Given the description of an element on the screen output the (x, y) to click on. 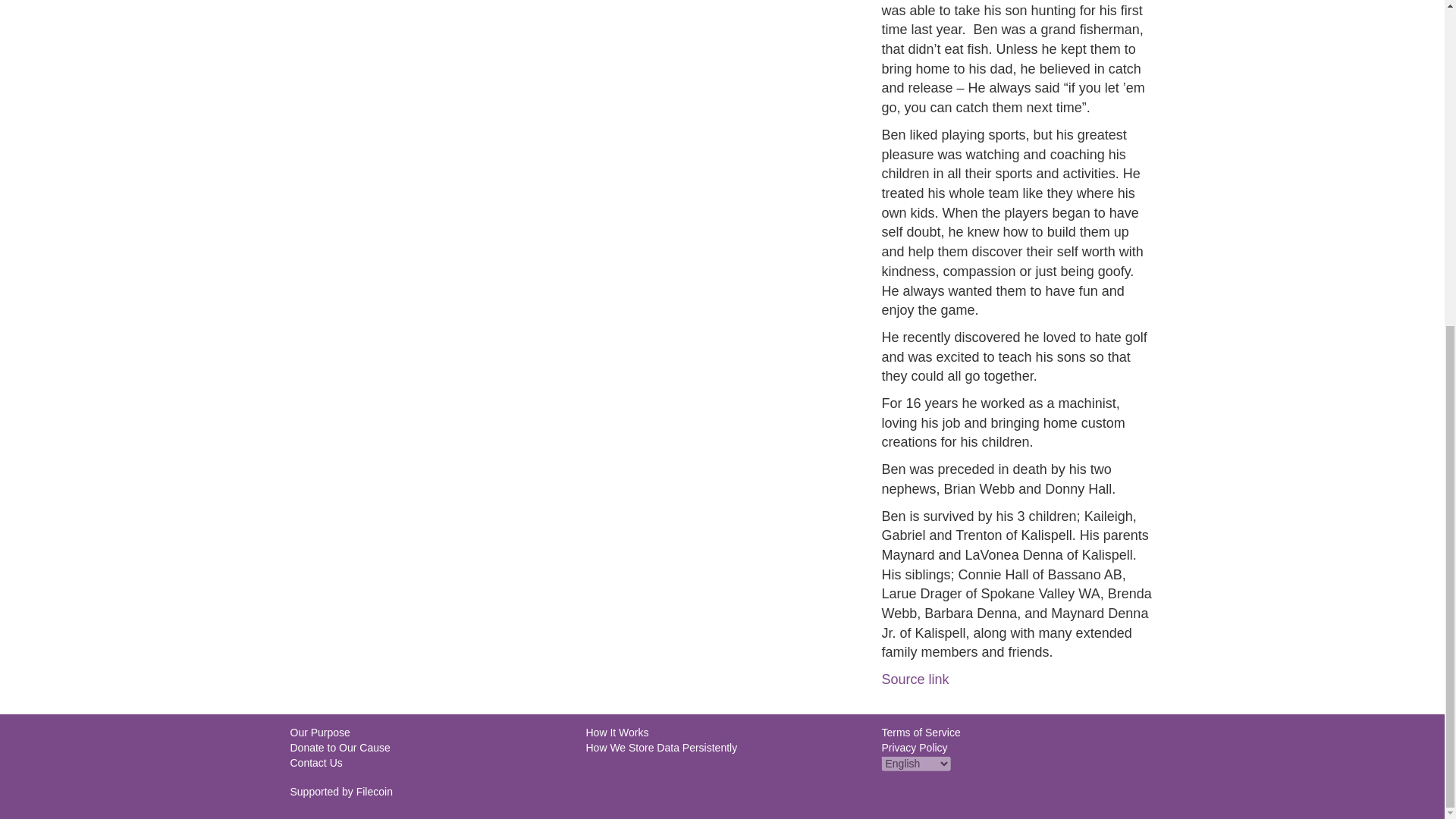
How It Works (616, 732)
Privacy Policy (913, 747)
Contact Us (315, 762)
Donate to Our Cause (339, 747)
Terms of Service (919, 732)
Source link (914, 679)
How We Store Data Persistently (660, 747)
Our Purpose (319, 732)
